Given the description of an element on the screen output the (x, y) to click on. 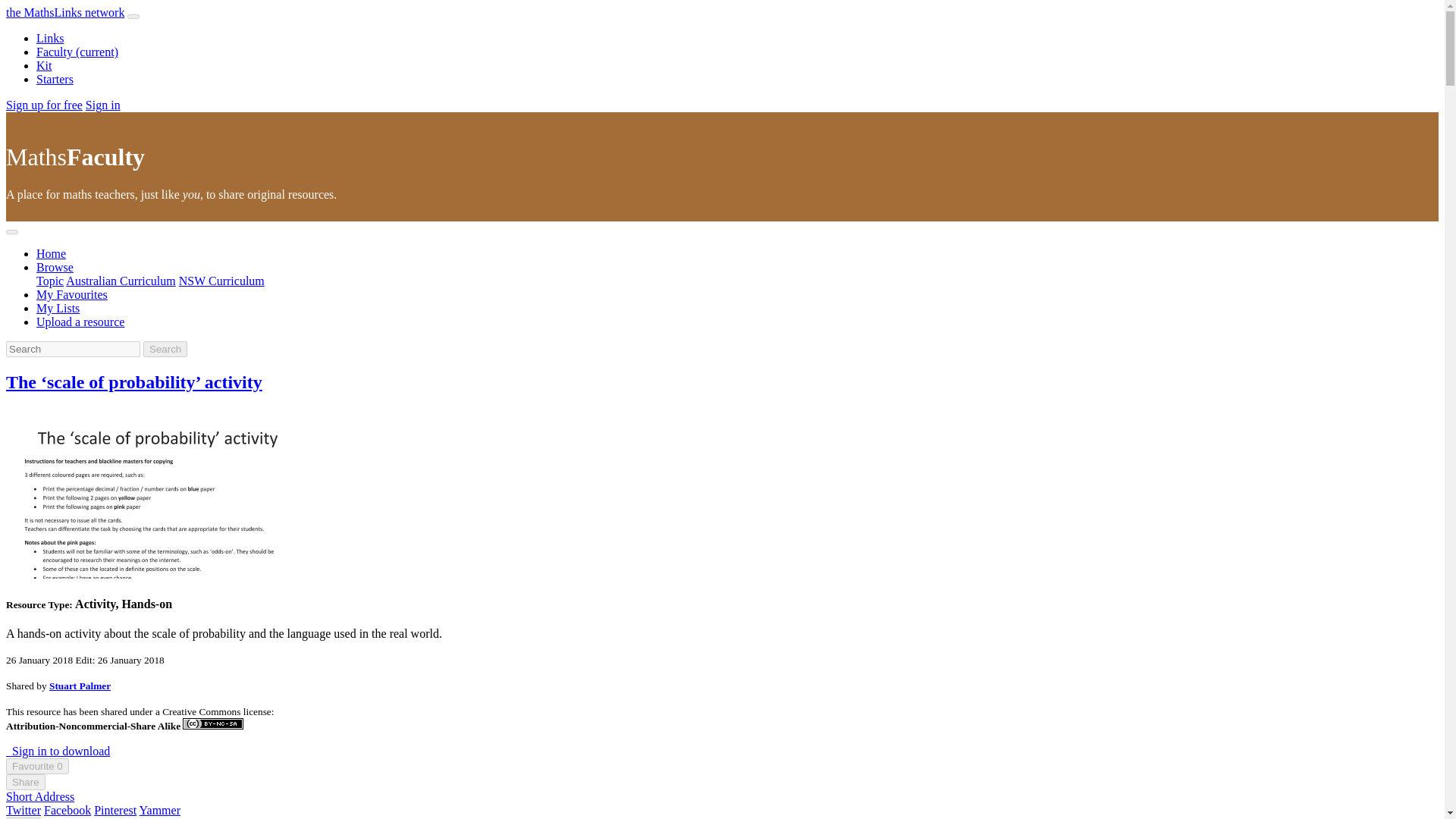
Browse (55, 267)
MathsFaculty (74, 156)
My Favourites (71, 294)
Search (164, 349)
Save (22, 818)
Sign in (102, 104)
Home (50, 253)
Twitter (22, 809)
the MathsLinks network (64, 11)
NSW Curriculum (221, 280)
Stuart Palmer (79, 685)
Australian Curriculum (119, 280)
Links (50, 38)
Pinterest (115, 809)
Sign up for free (43, 104)
